Given the description of an element on the screen output the (x, y) to click on. 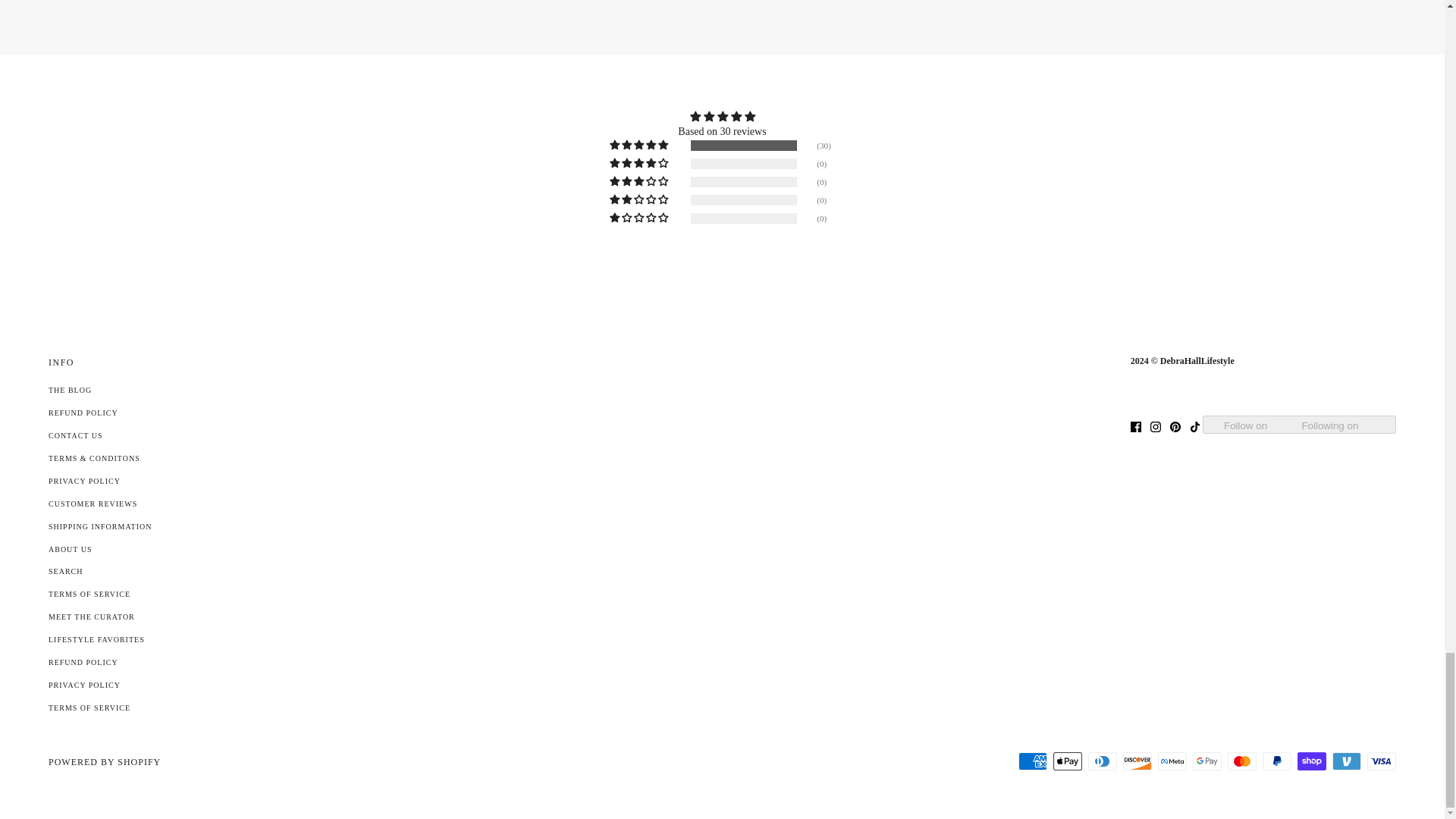
Lifestyle Favorites (96, 639)
Privacy policy (84, 684)
Contact Us (75, 435)
About Us (70, 549)
Shipping Information (99, 526)
Terms of service (89, 707)
Customer Reviews (92, 503)
Terms of Service (89, 593)
Meet The Curator (91, 616)
Refund policy (82, 412)
Privacy Policy (84, 480)
Refund policy (82, 662)
The Blog (69, 389)
